Given the description of an element on the screen output the (x, y) to click on. 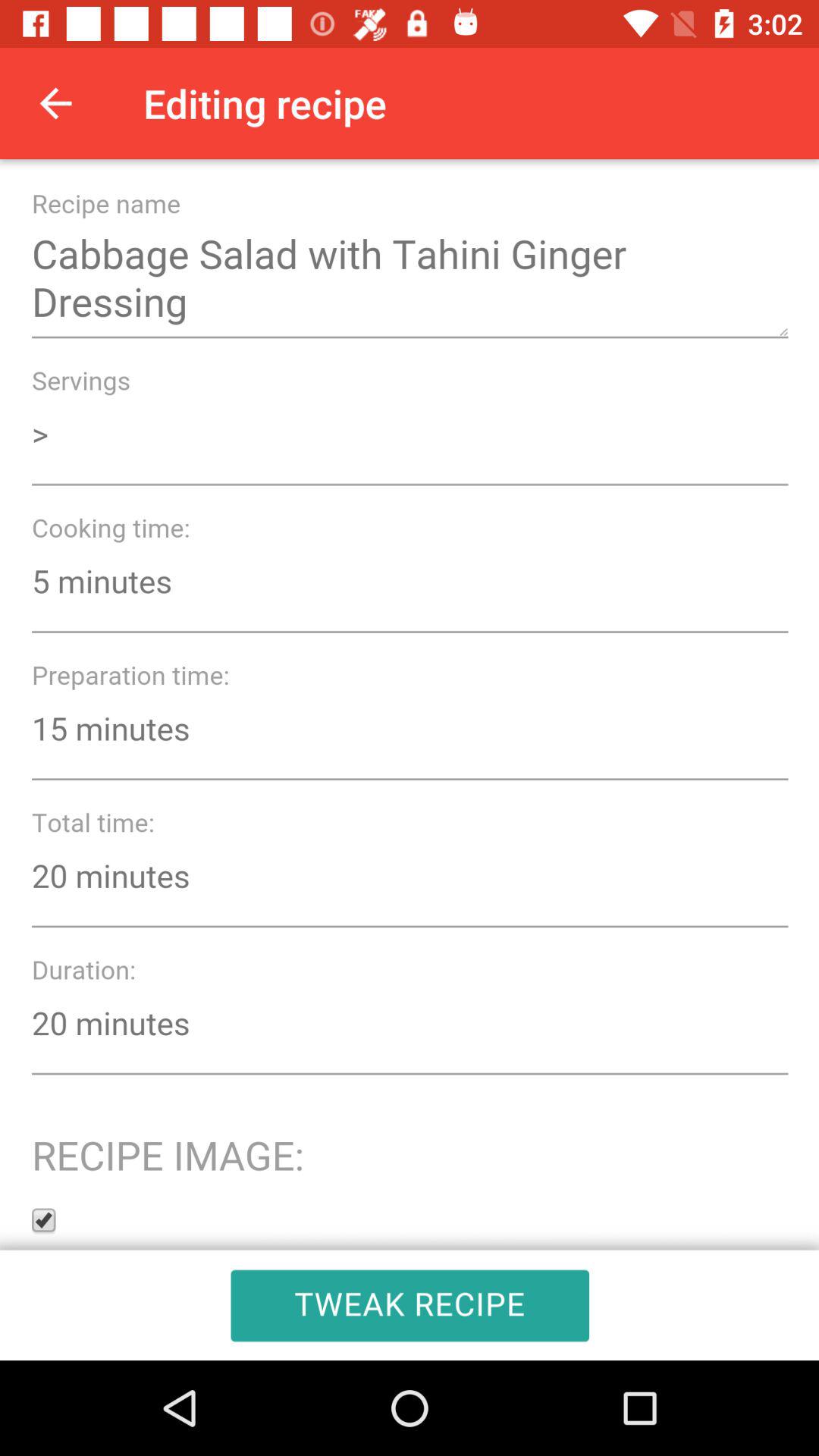
select screen botton (409, 759)
